Given the description of an element on the screen output the (x, y) to click on. 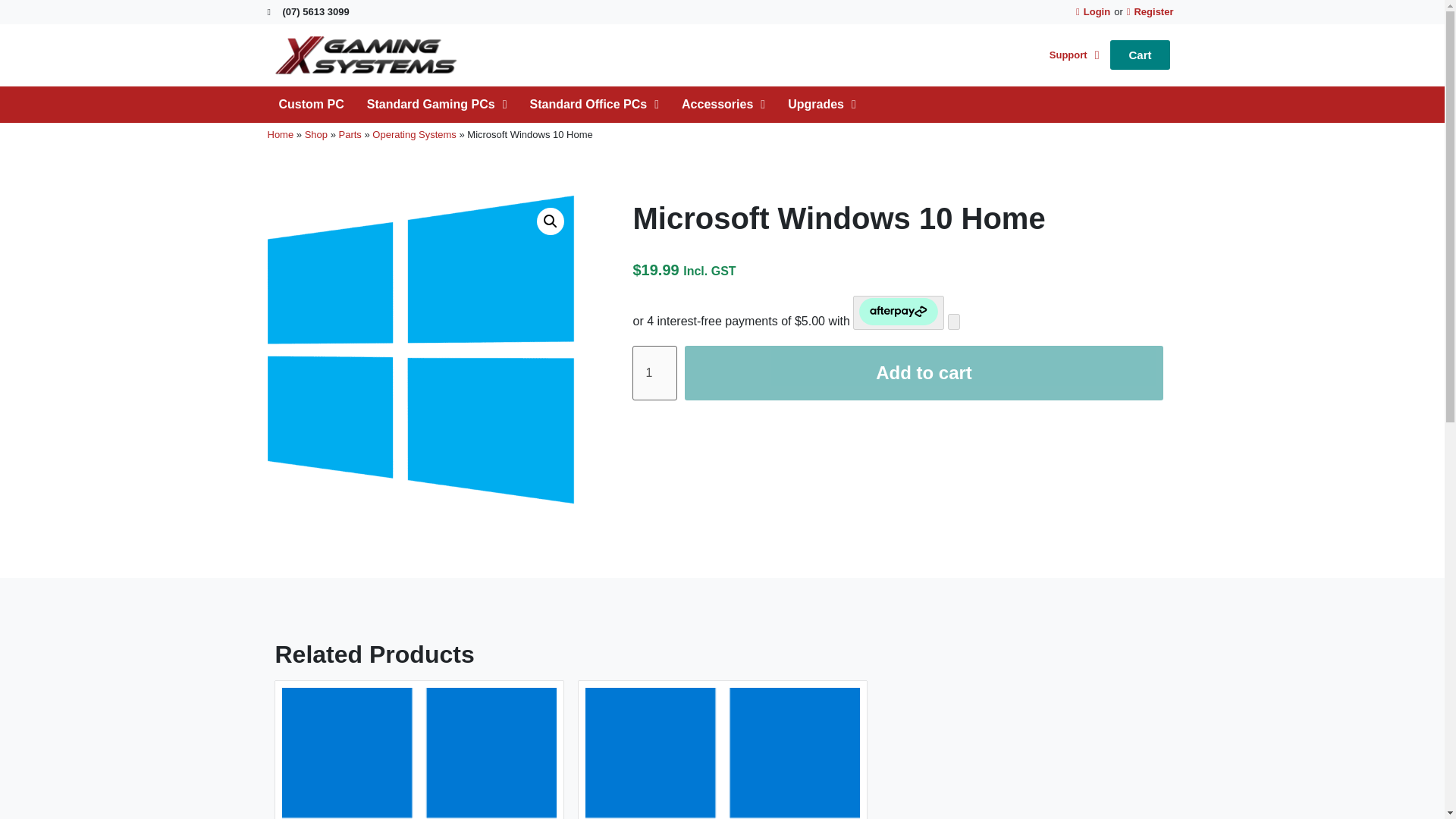
Upgrades (821, 104)
Cart (1139, 54)
Custom PC (310, 104)
Register (1149, 12)
Accessories (722, 104)
Support (1074, 54)
windows-10-logo (421, 350)
Standard Office PCs (594, 104)
Login (1092, 12)
Standard Gaming PCs (436, 104)
